Given the description of an element on the screen output the (x, y) to click on. 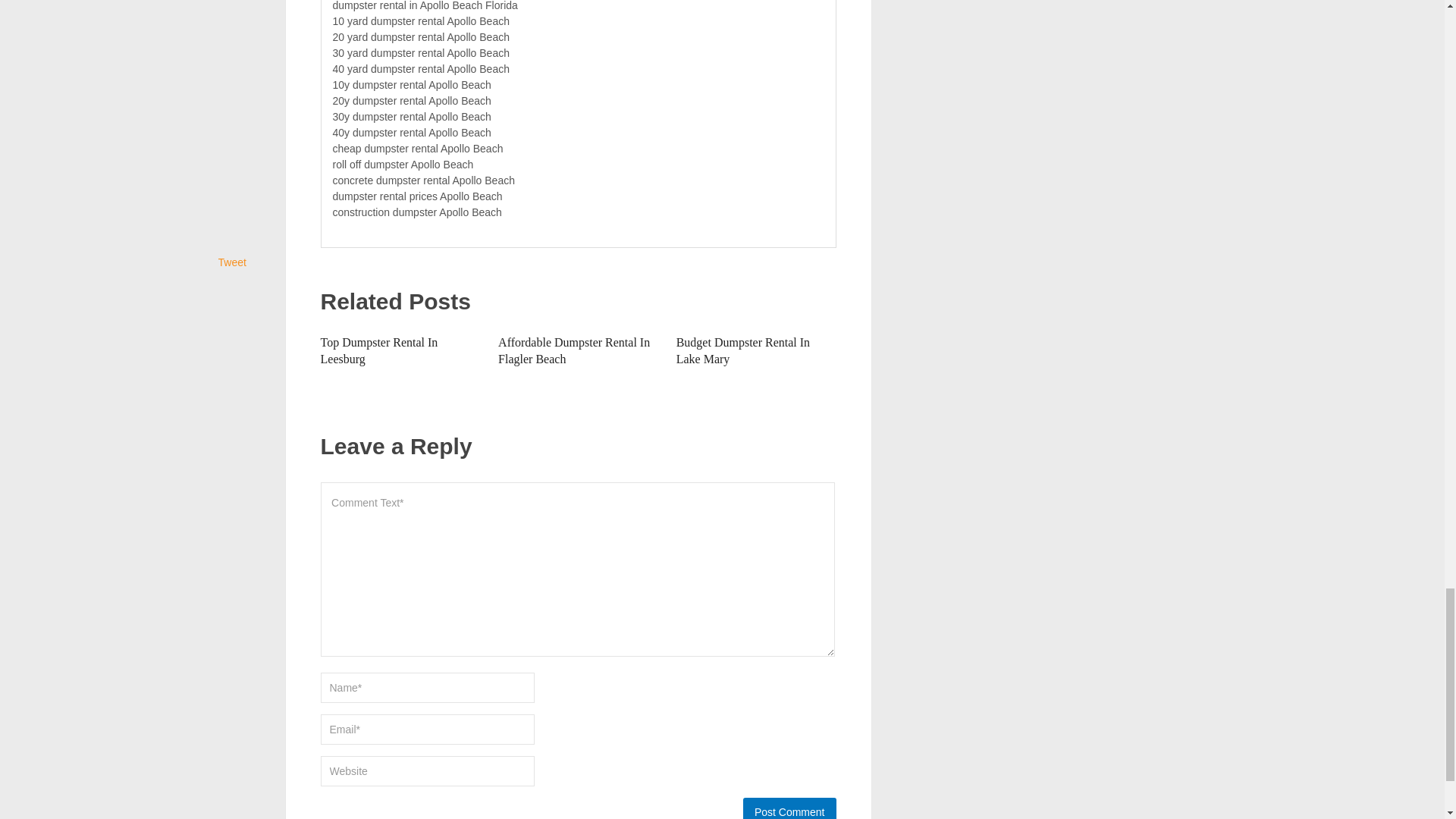
Budget Dumpster Rental In Lake Mary (743, 350)
Affordable Dumpster Rental In Flagler Beach (573, 350)
Post Comment (788, 808)
Affordable Dumpster Rental In Flagler Beach (573, 350)
Budget Dumpster Rental In Lake Mary (743, 350)
Top Dumpster Rental In Leesburg (379, 350)
Top Dumpster Rental In Leesburg (379, 350)
Post Comment (788, 808)
